Given the description of an element on the screen output the (x, y) to click on. 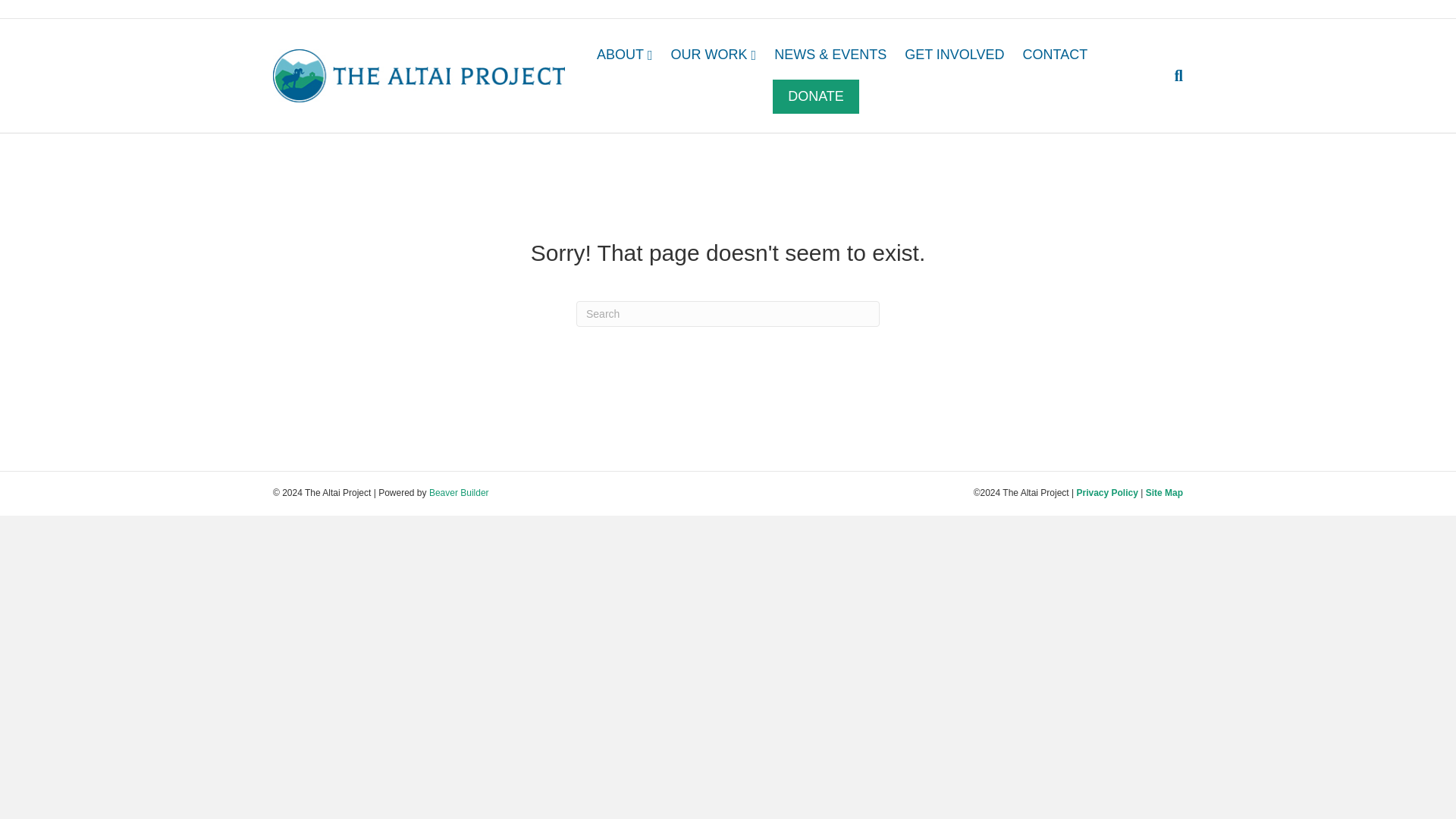
Site Map (1163, 492)
Beaver Builder (459, 492)
DONATE (816, 96)
WordPress Page Builder Plugin (459, 492)
CONTACT (1055, 55)
Type and press Enter to search. (727, 313)
OUR WORK (713, 55)
Privacy Policy (1106, 492)
GET INVOLVED (954, 55)
ABOUT (625, 55)
